Given the description of an element on the screen output the (x, y) to click on. 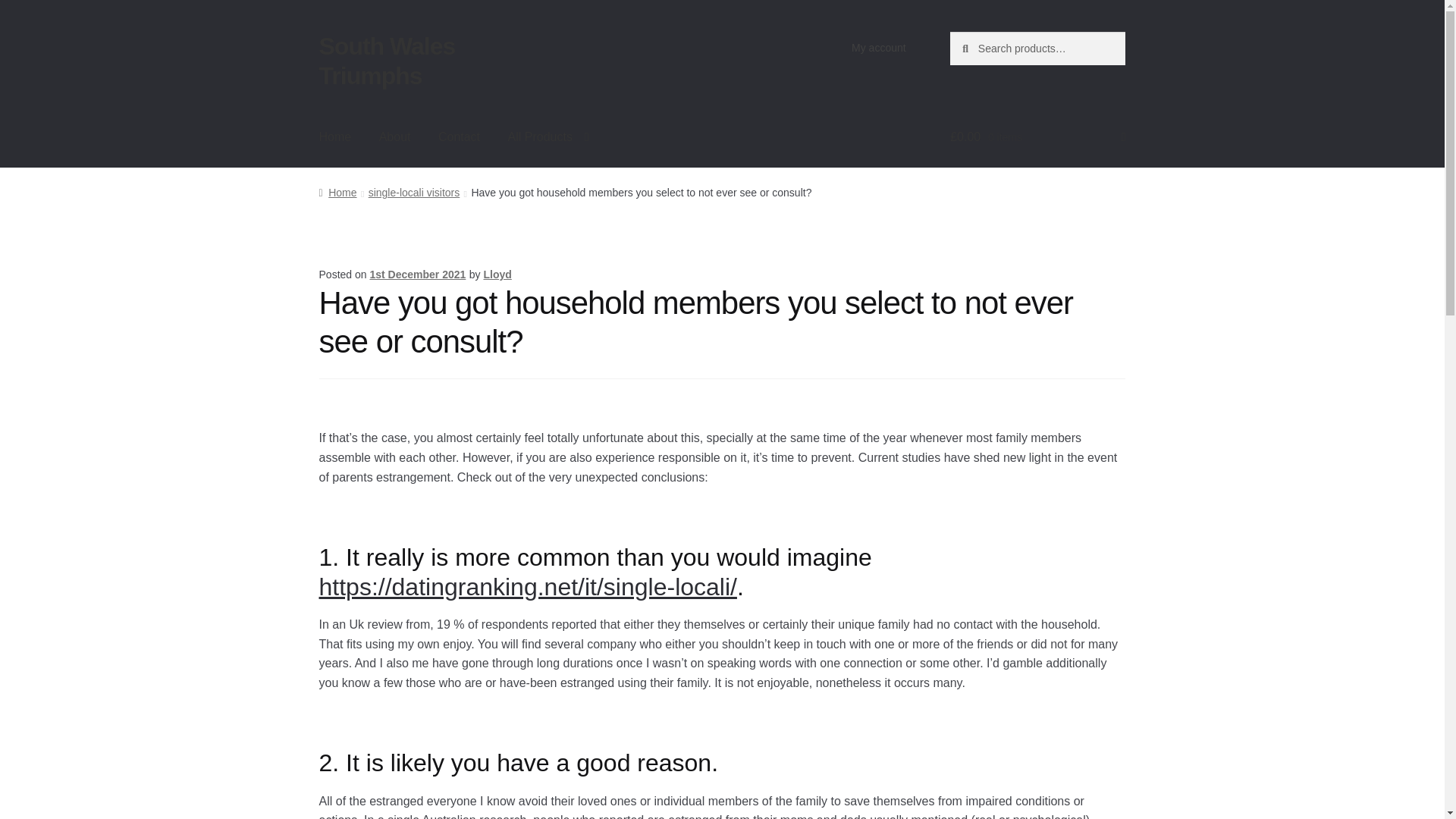
View your shopping basket (1037, 137)
1st December 2021 (417, 274)
About (394, 137)
My account (879, 47)
single-locali visitors (414, 192)
Lloyd (497, 274)
All Products (548, 137)
Home (335, 137)
South Wales Triumphs (386, 60)
Contact (459, 137)
Home (337, 192)
